Given the description of an element on the screen output the (x, y) to click on. 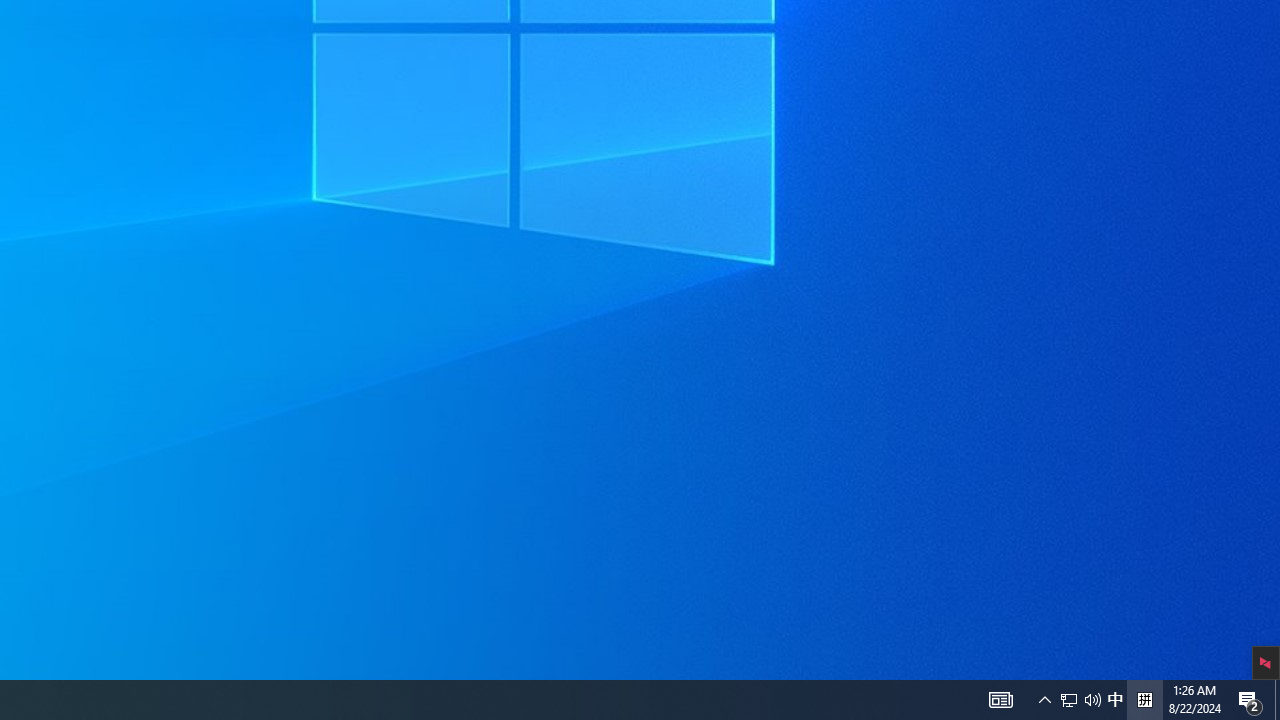
Show desktop (1277, 699)
AutomationID: 4105 (1000, 699)
Notification Chevron (1044, 699)
Q2790: 100% (1092, 699)
User Promoted Notification Area (1069, 699)
Action Center, 2 new notifications (1080, 699)
Tray Input Indicator - Chinese (Simplified, China) (1250, 699)
